Given the description of an element on the screen output the (x, y) to click on. 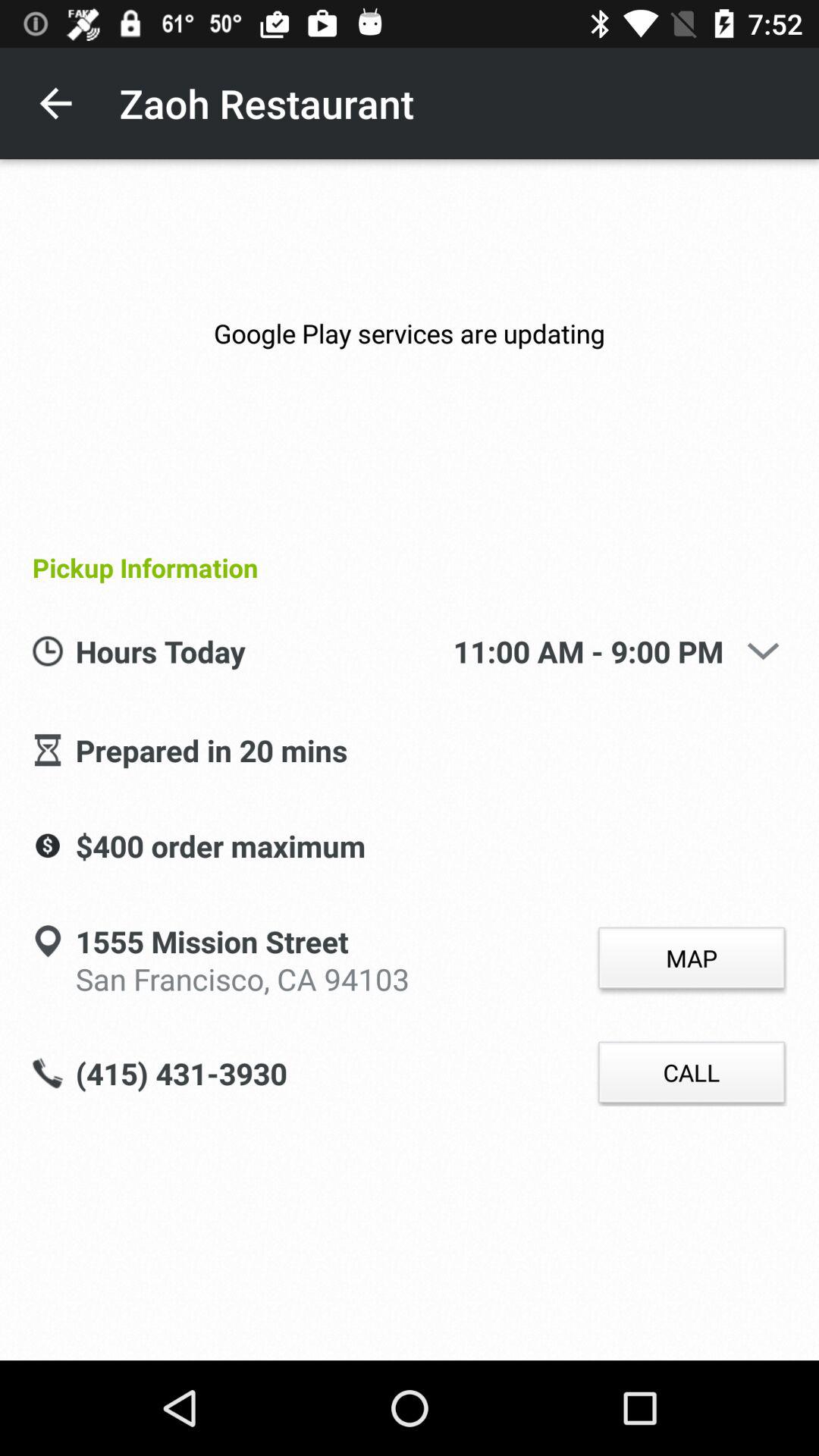
click the item below $400 order maximum item (242, 976)
